Given the description of an element on the screen output the (x, y) to click on. 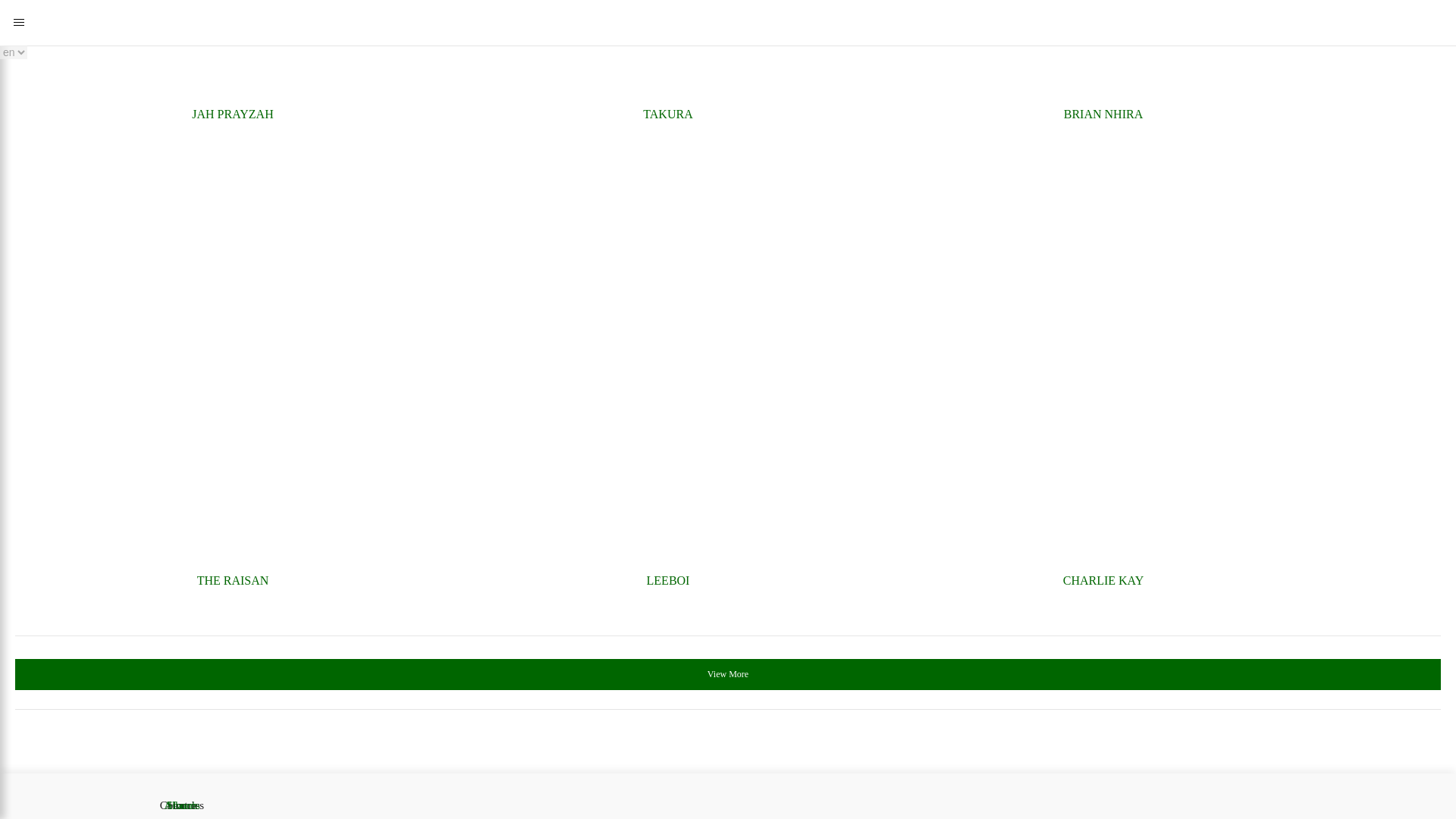
BRIAN NHIRA (1103, 114)
JAH PRAYZAH (232, 114)
TAKURA (668, 114)
